Given the description of an element on the screen output the (x, y) to click on. 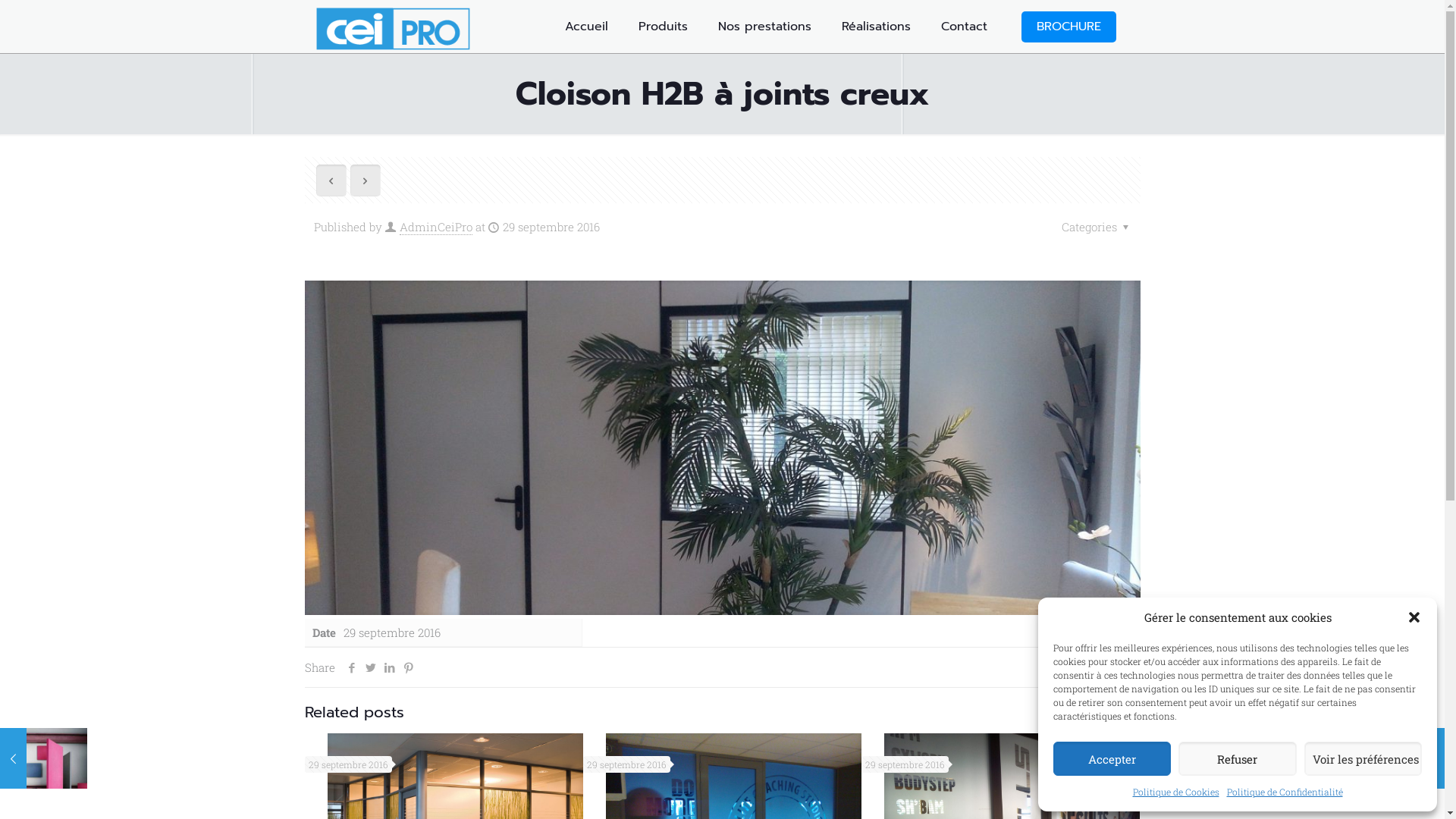
Refuser Element type: text (1236, 758)
AdminCeiPro Element type: text (434, 227)
Contact Element type: text (963, 26)
Nos prestations Element type: text (763, 26)
Politique de Cookies Element type: text (1175, 791)
Accueil Element type: text (585, 26)
0 Element type: text (1128, 666)
BROCHURE Element type: text (1067, 25)
Accepter Element type: text (1111, 758)
Produits Element type: text (662, 26)
